Given the description of an element on the screen output the (x, y) to click on. 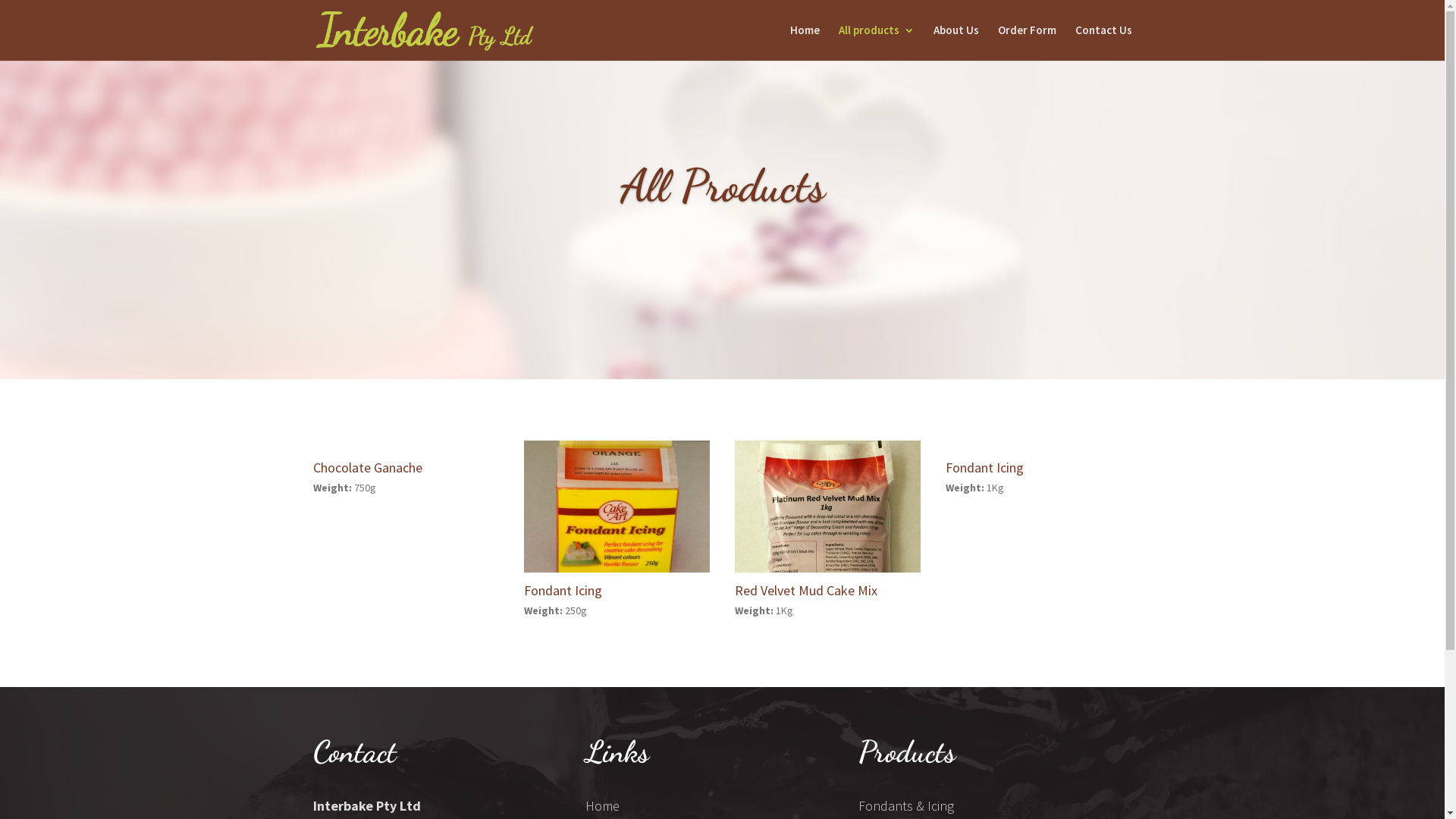
Chocolate Ganache Element type: text (366, 467)
About Us Element type: text (955, 42)
Contact Us Element type: text (1103, 42)
Home Element type: text (602, 806)
Fondant Icing Element type: text (563, 590)
Order Form Element type: text (1026, 42)
Fondant Icing Element type: text (984, 467)
Red Velvet Mud Cake Mix Element type: text (805, 590)
All products Element type: text (876, 42)
Home Element type: text (804, 42)
Fondants & Icing Element type: text (905, 806)
